Given the description of an element on the screen output the (x, y) to click on. 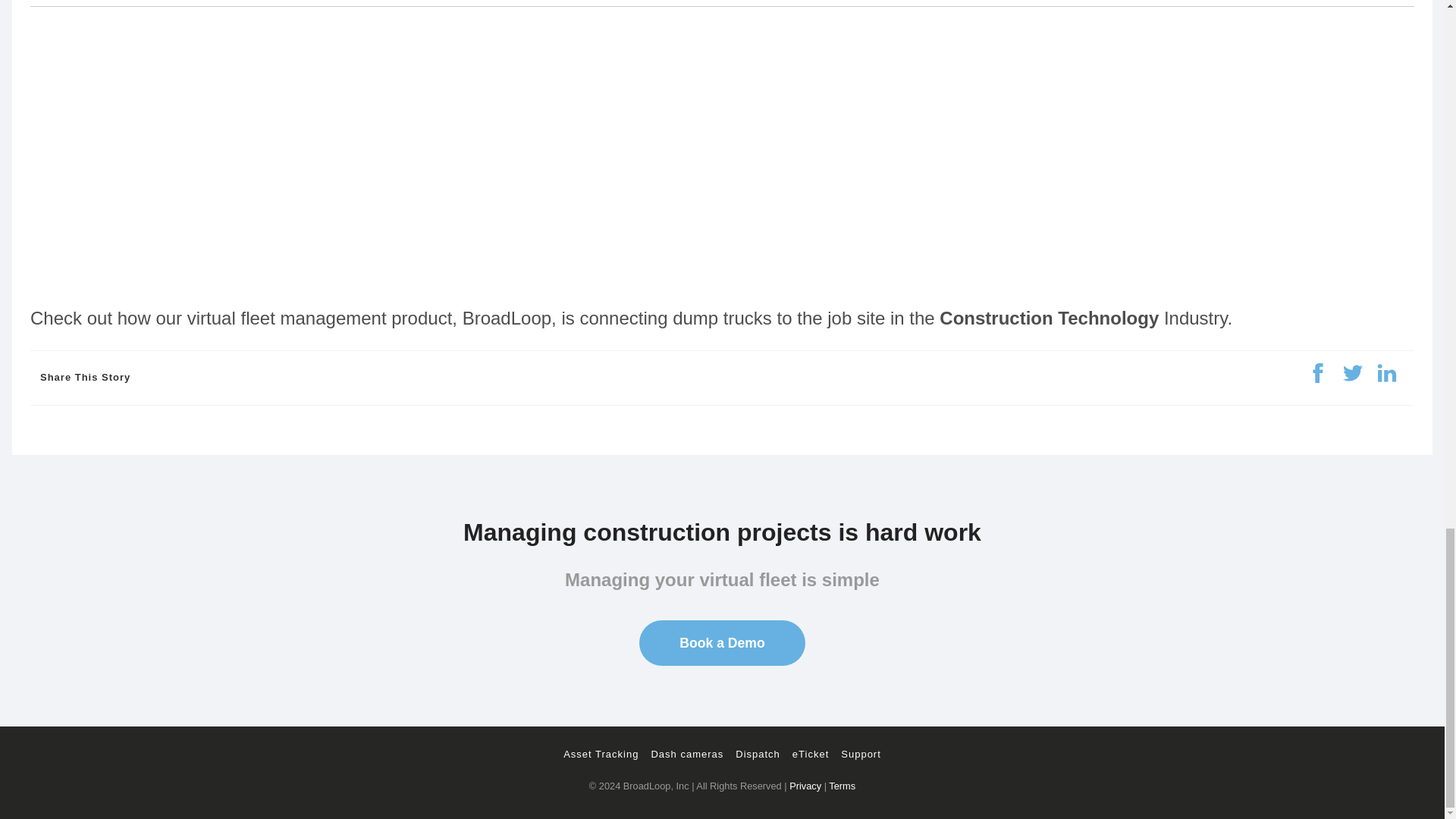
Book a Demo (722, 643)
Book a Demo (722, 642)
